Given the description of an element on the screen output the (x, y) to click on. 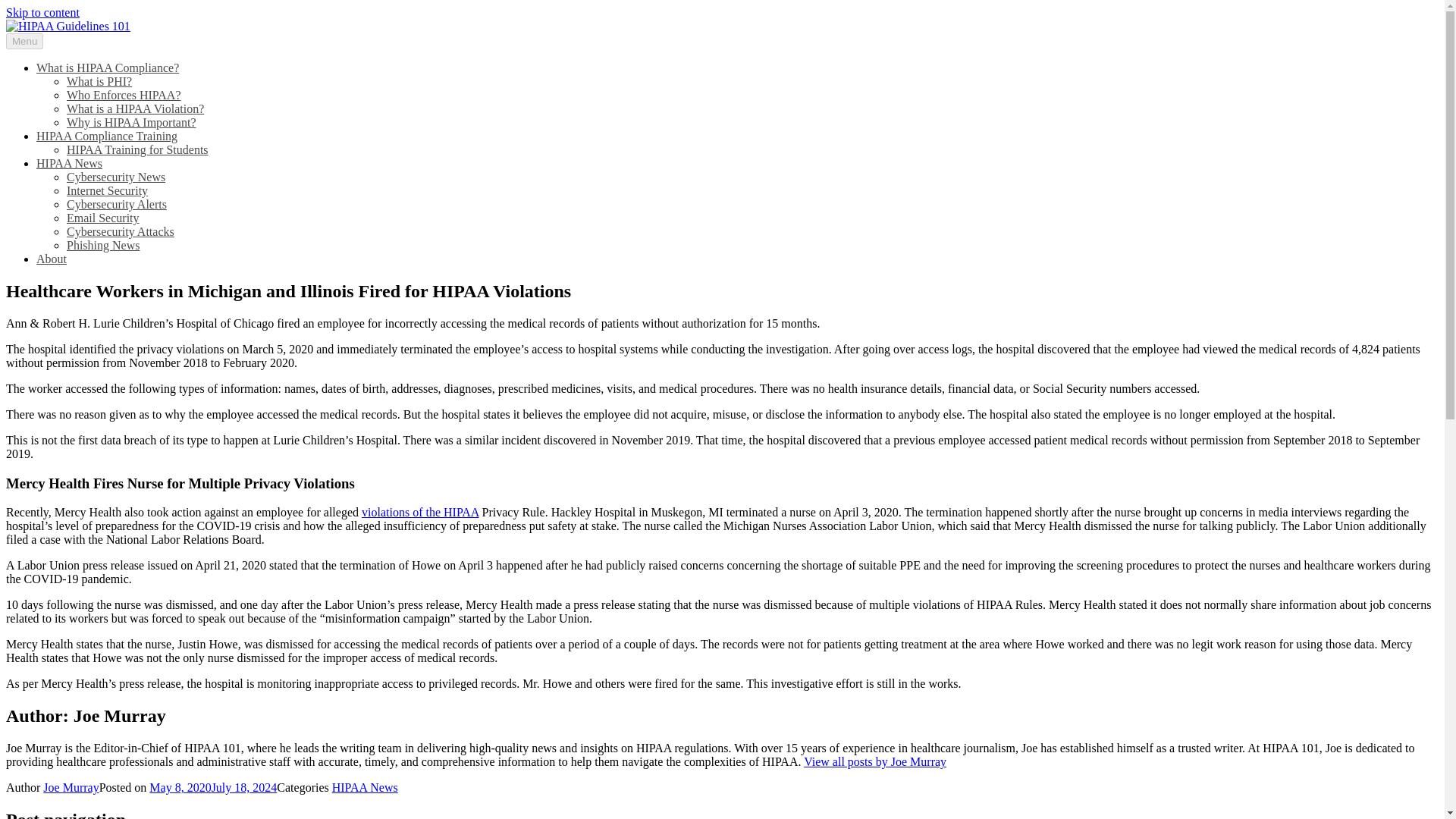
Who Enforces HIPAA? (123, 94)
About (51, 258)
Joe Murray (71, 787)
HIPAA News (68, 163)
May 8, 2020July 18, 2024 (212, 787)
HIPAA Compliance Training (106, 135)
What is PHI? (99, 81)
Email Security (102, 217)
HIPAA 101 (33, 51)
Internet Security (107, 190)
Why is HIPAA Important? (131, 122)
View all posts by Joe Murray (874, 761)
Cybersecurity Attacks (120, 231)
Cybersecurity News (115, 176)
Cybersecurity Alerts (116, 204)
